Given the description of an element on the screen output the (x, y) to click on. 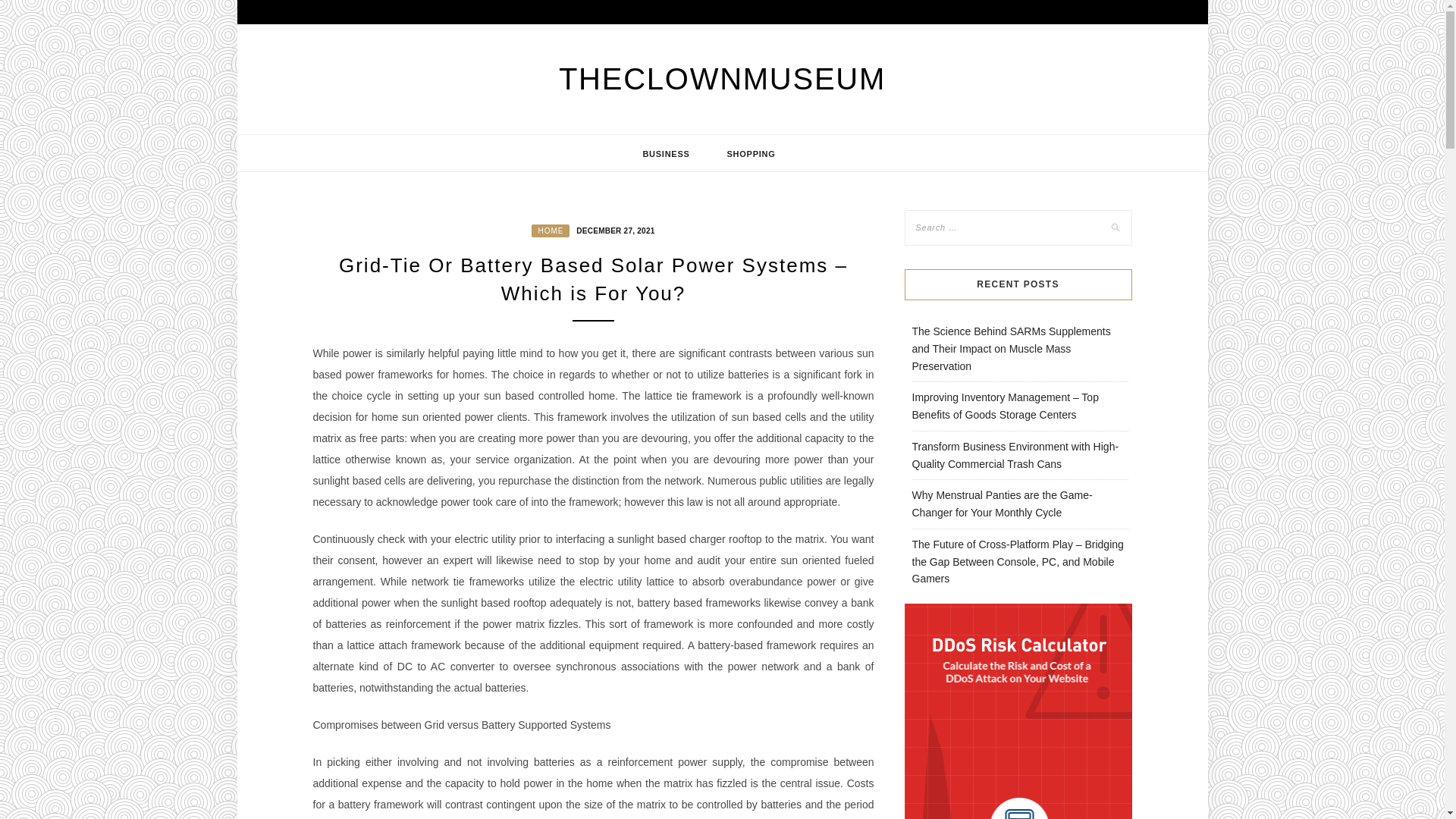
Search (28, 11)
HOME (550, 230)
THECLOWNMUSEUM (722, 78)
BUSINESS (666, 153)
SHOPPING (750, 153)
DECEMBER 27, 2021 (612, 229)
